Given the description of an element on the screen output the (x, y) to click on. 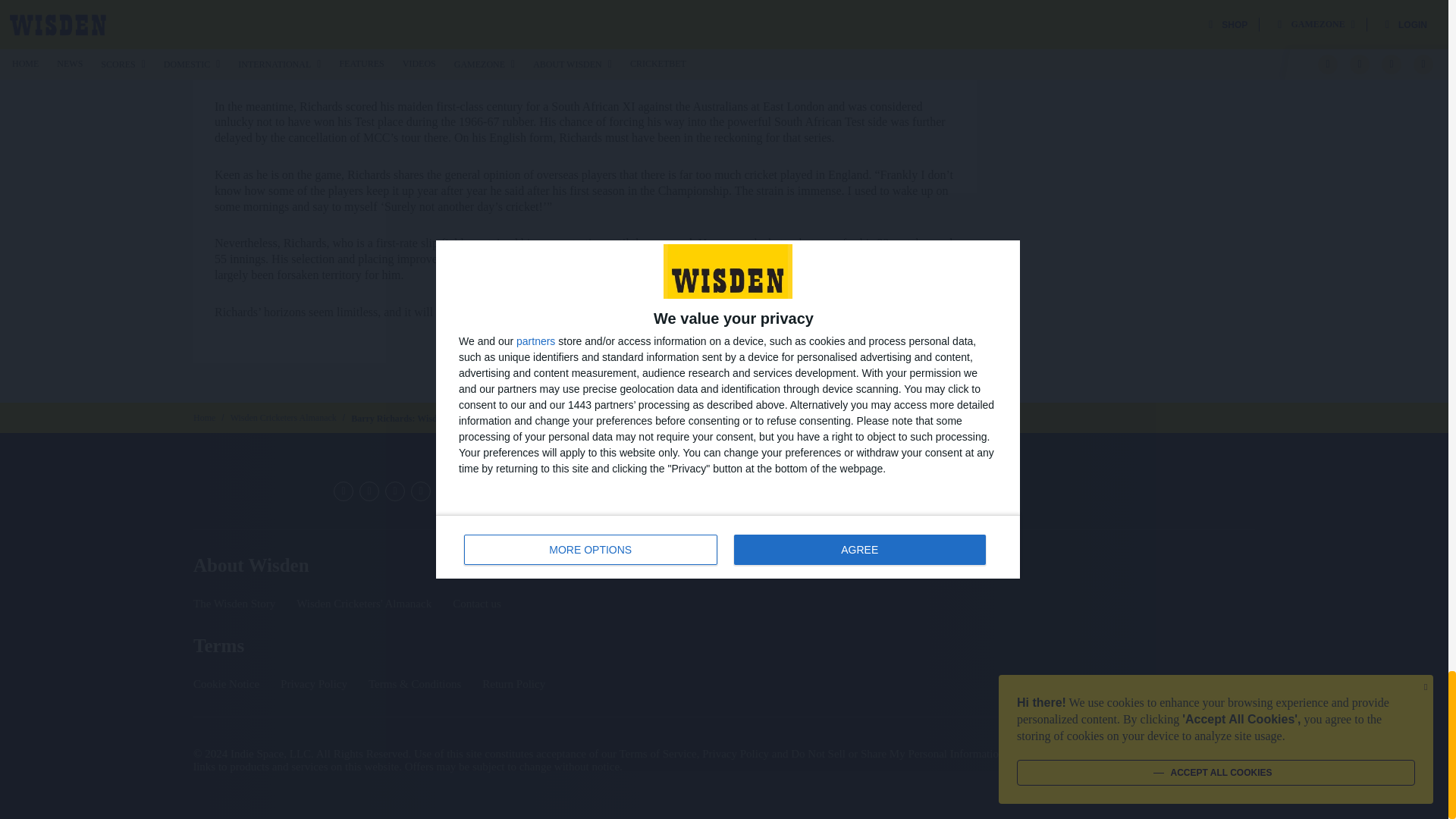
Wisden Cricketers' Almanack (1220, 516)
